Given the description of an element on the screen output the (x, y) to click on. 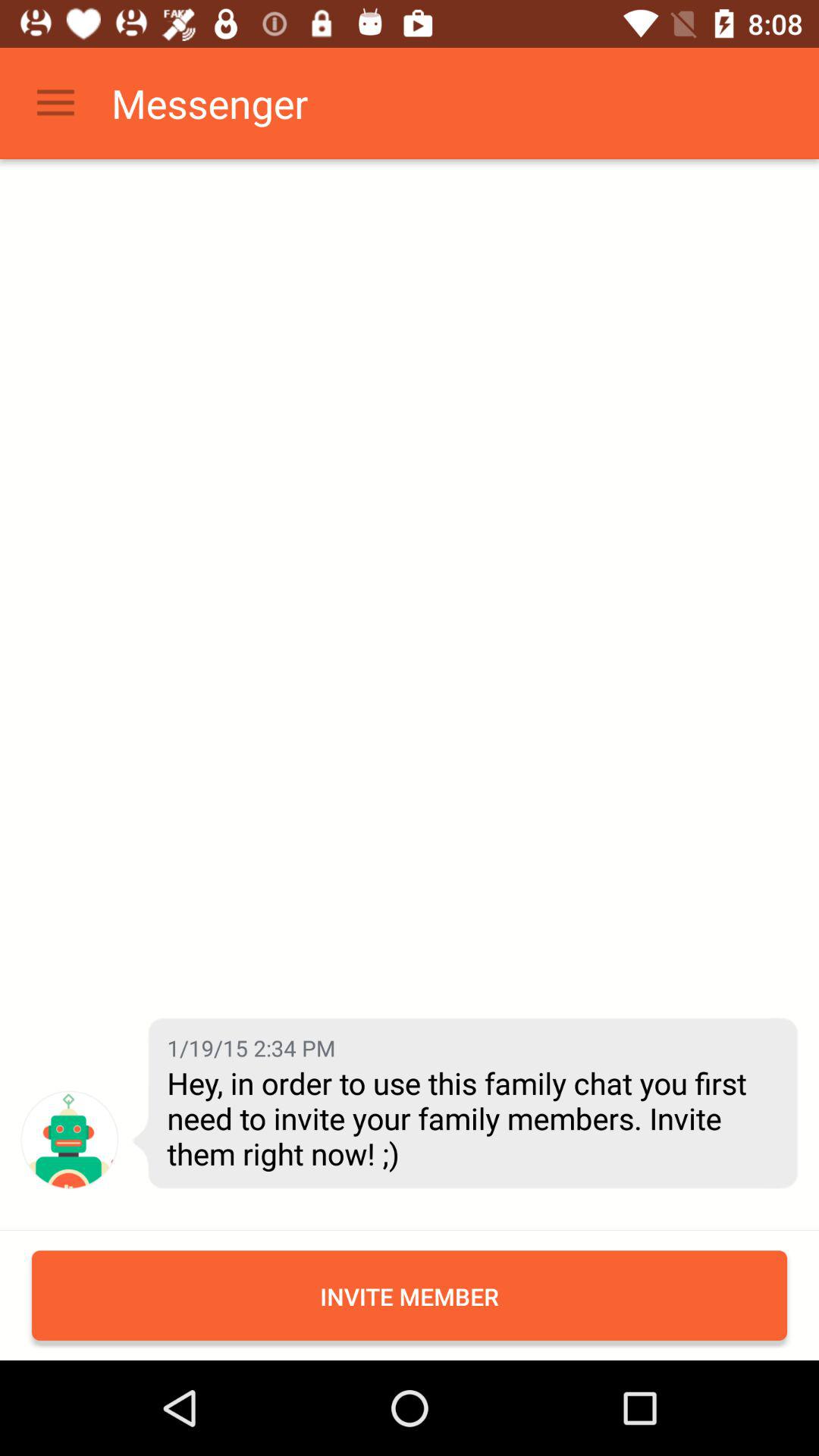
select the icon to the left of messenger (55, 103)
